Given the description of an element on the screen output the (x, y) to click on. 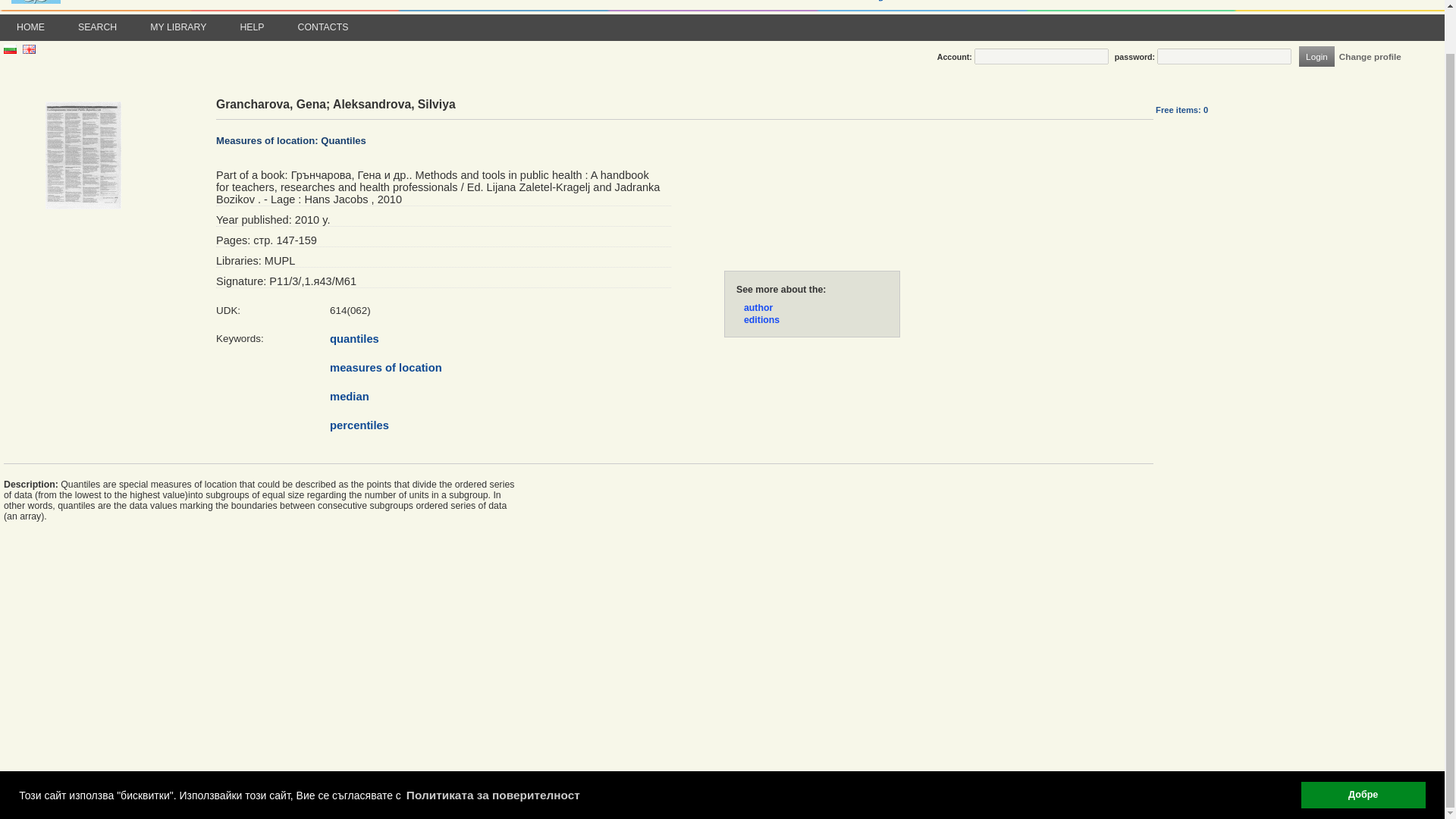
author (758, 307)
HOME (30, 27)
SEARCH (97, 27)
median (349, 396)
HELP (251, 27)
MY LIBRARY (177, 27)
CONTACTS (323, 27)
percentiles (359, 425)
measures of location (386, 367)
Change profile (1369, 56)
iLib, 6.1.6 (18, 792)
English (28, 50)
quantiles (354, 338)
Login (1316, 55)
